Given the description of an element on the screen output the (x, y) to click on. 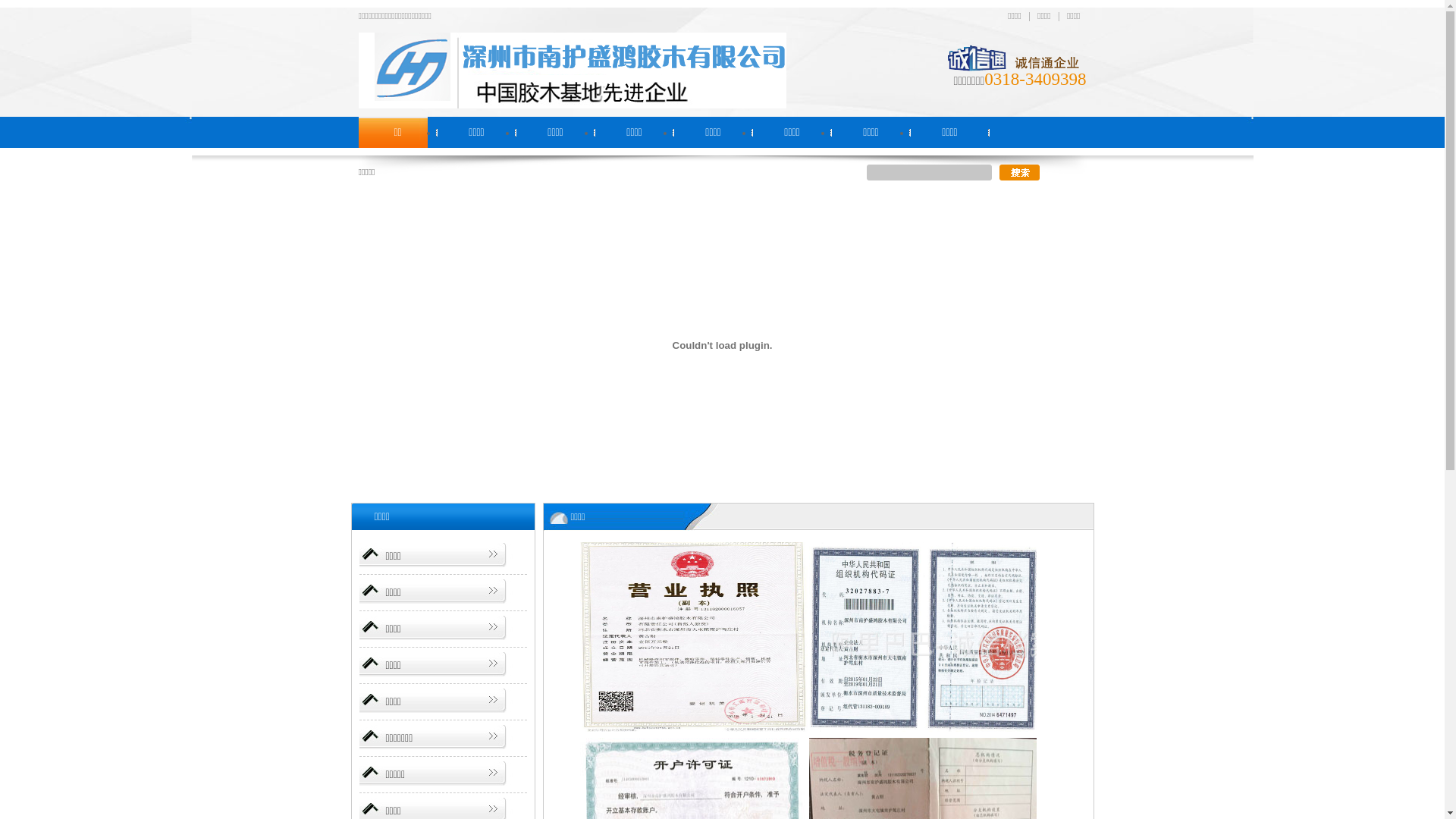
0318-3409398 Element type: text (1034, 78)
